Given the description of an element on the screen output the (x, y) to click on. 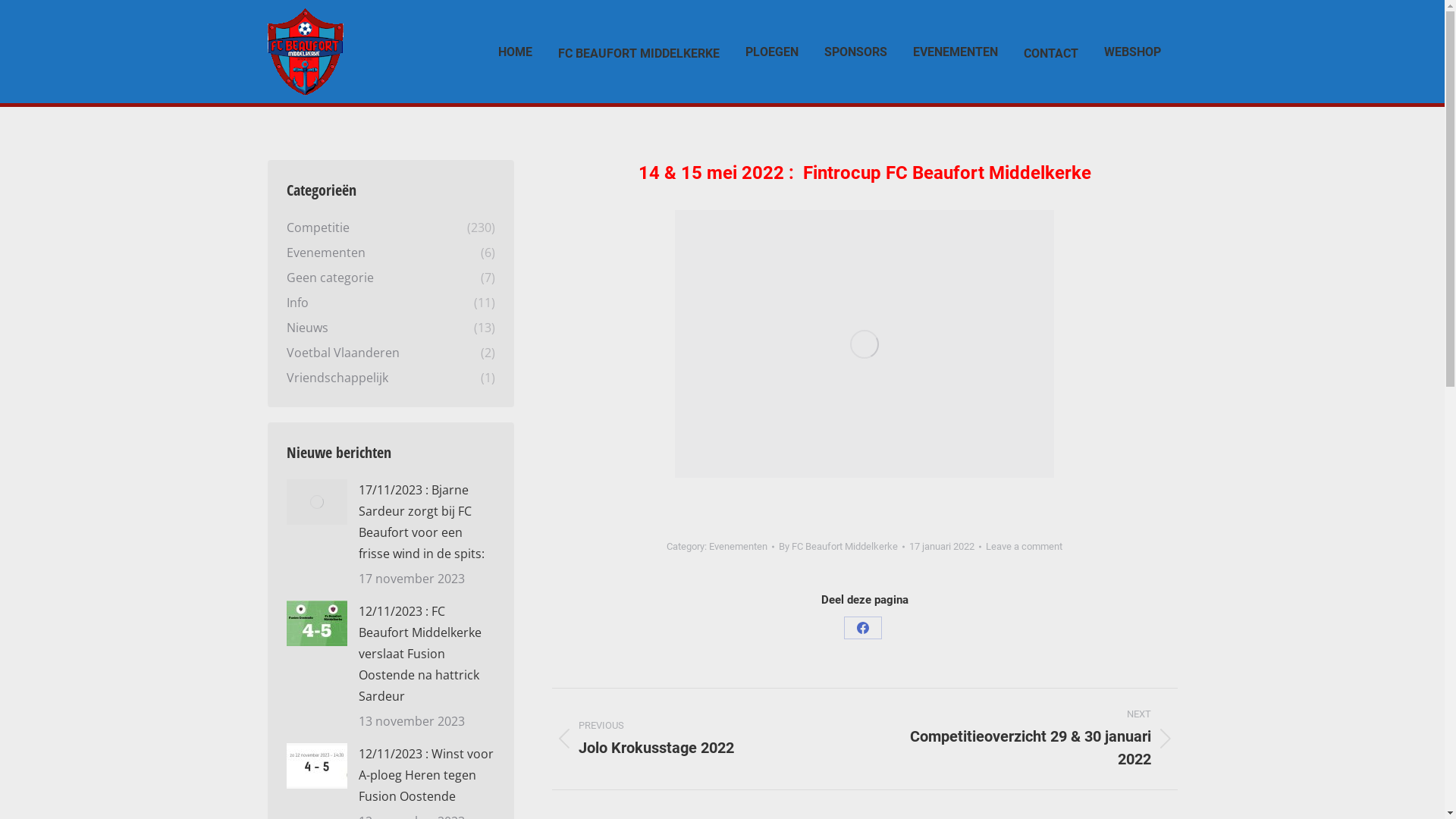
FC BEAUFORT MIDDELKERKE Element type: text (638, 50)
PLOEGEN Element type: text (770, 51)
CONTACT Element type: text (1050, 50)
WEBSHOP Element type: text (1132, 51)
Leave a comment Element type: text (1023, 546)
By FC Beaufort Middelkerke Element type: text (841, 546)
SPONSORS Element type: text (854, 51)
EVENEMENTEN Element type: text (955, 51)
Evenementen Element type: text (738, 546)
12/11/2023 : Winst voor A-ploeg Heren tegen Fusion Oostende Element type: text (425, 774)
NEXT
Next post:
Competitieoverzicht 29 & 30 januari 2022 Element type: text (1032, 738)
PREVIOUS
Previous post:
Jolo Krokusstage 2022 Element type: text (697, 738)
Uitnodiging jeugdtornooi Element type: hover (864, 343)
HOME Element type: text (514, 51)
Reactie plaatsen Element type: text (56, 16)
Share on Facebook Element type: text (862, 627)
17 januari 2022 Element type: text (945, 546)
